Given the description of an element on the screen output the (x, y) to click on. 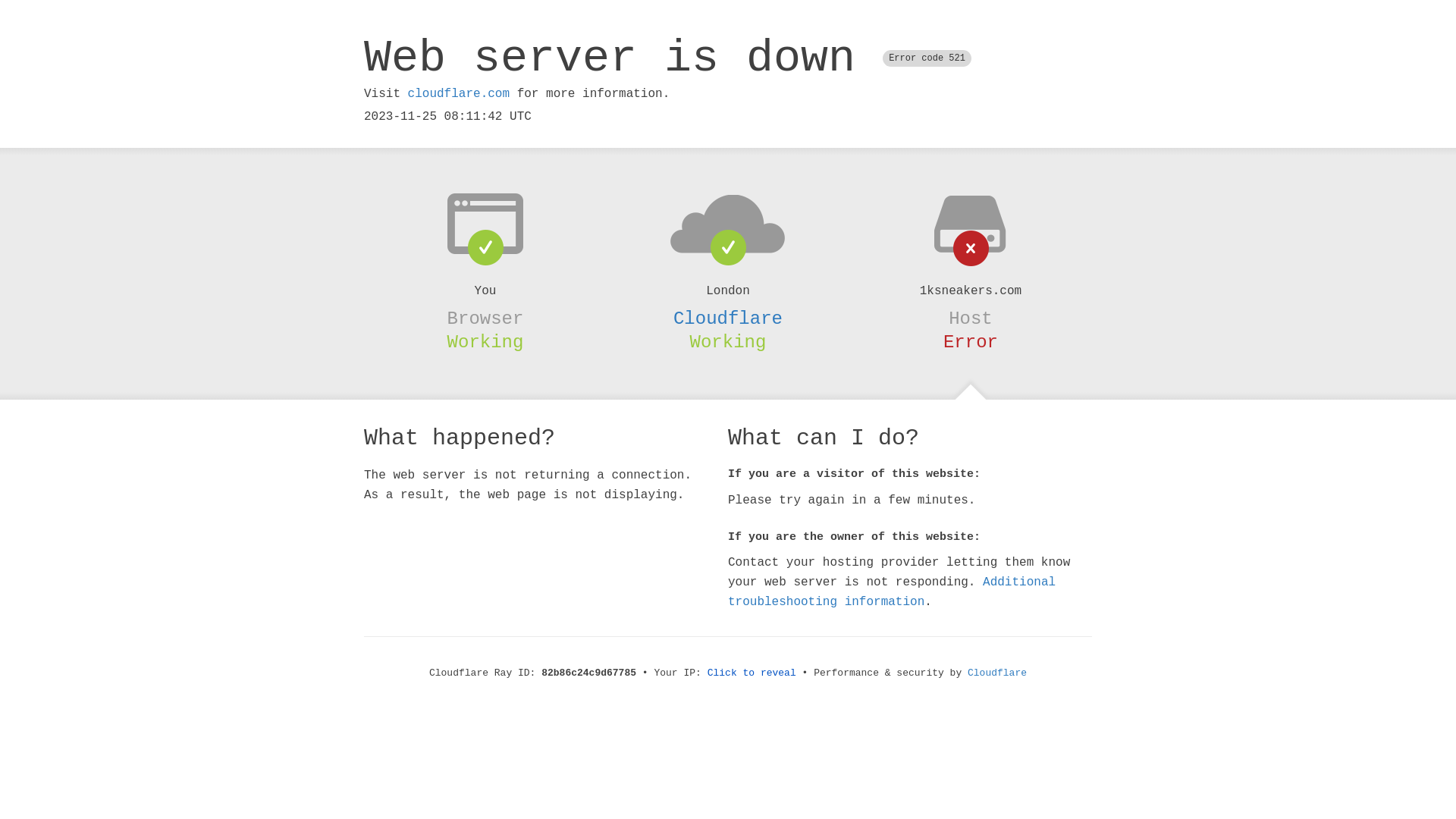
Cloudflare Element type: text (996, 672)
cloudflare.com Element type: text (458, 93)
Click to reveal Element type: text (751, 672)
Cloudflare Element type: text (727, 318)
Additional troubleshooting information Element type: text (891, 591)
